Given the description of an element on the screen output the (x, y) to click on. 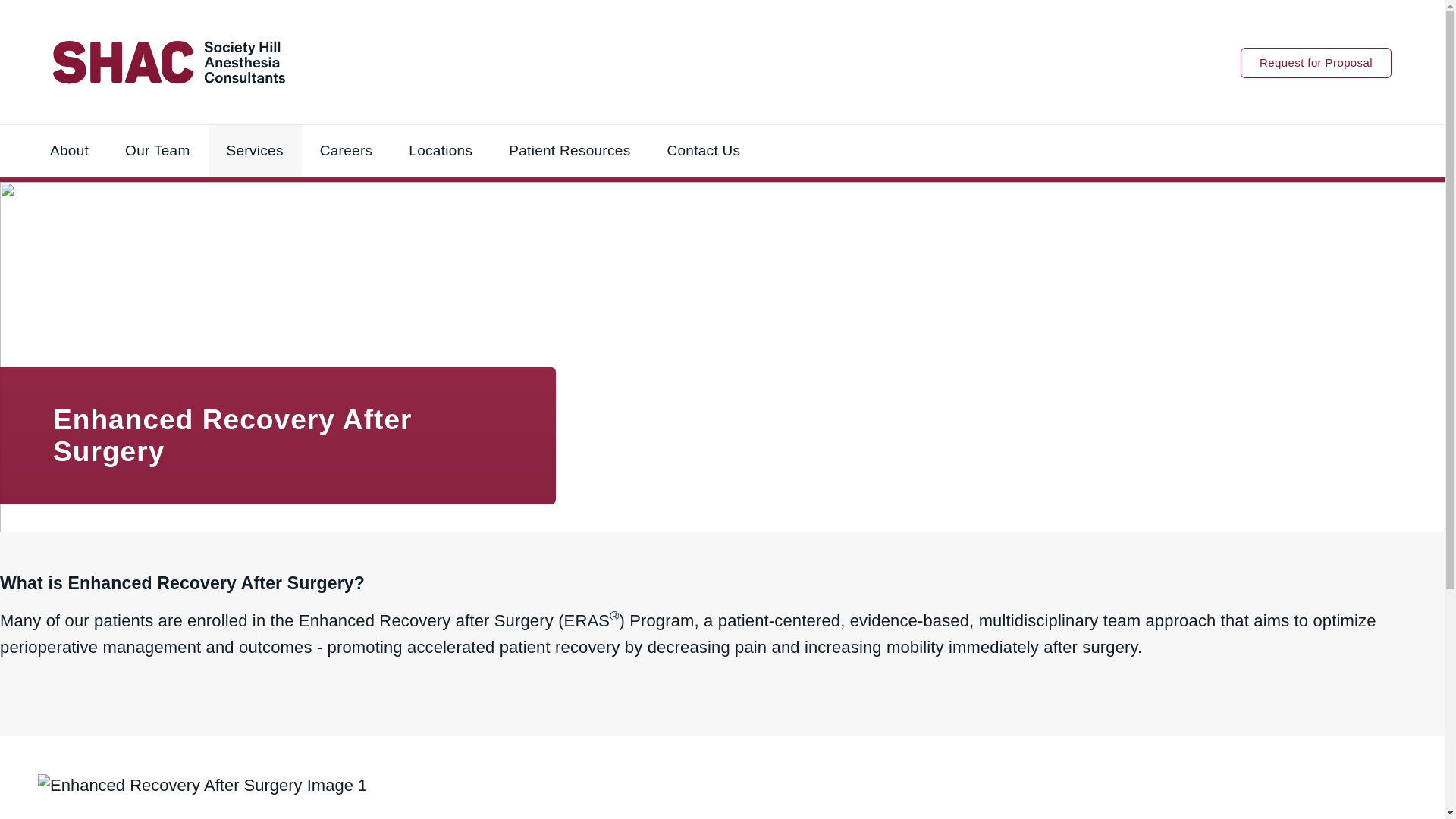
alt text (201, 785)
Patient Resources (569, 150)
Locations (440, 150)
Careers (346, 150)
Request for Proposal (1315, 61)
About (68, 150)
Contact Us (702, 150)
Our Team (157, 150)
Services (253, 150)
